Given the description of an element on the screen output the (x, y) to click on. 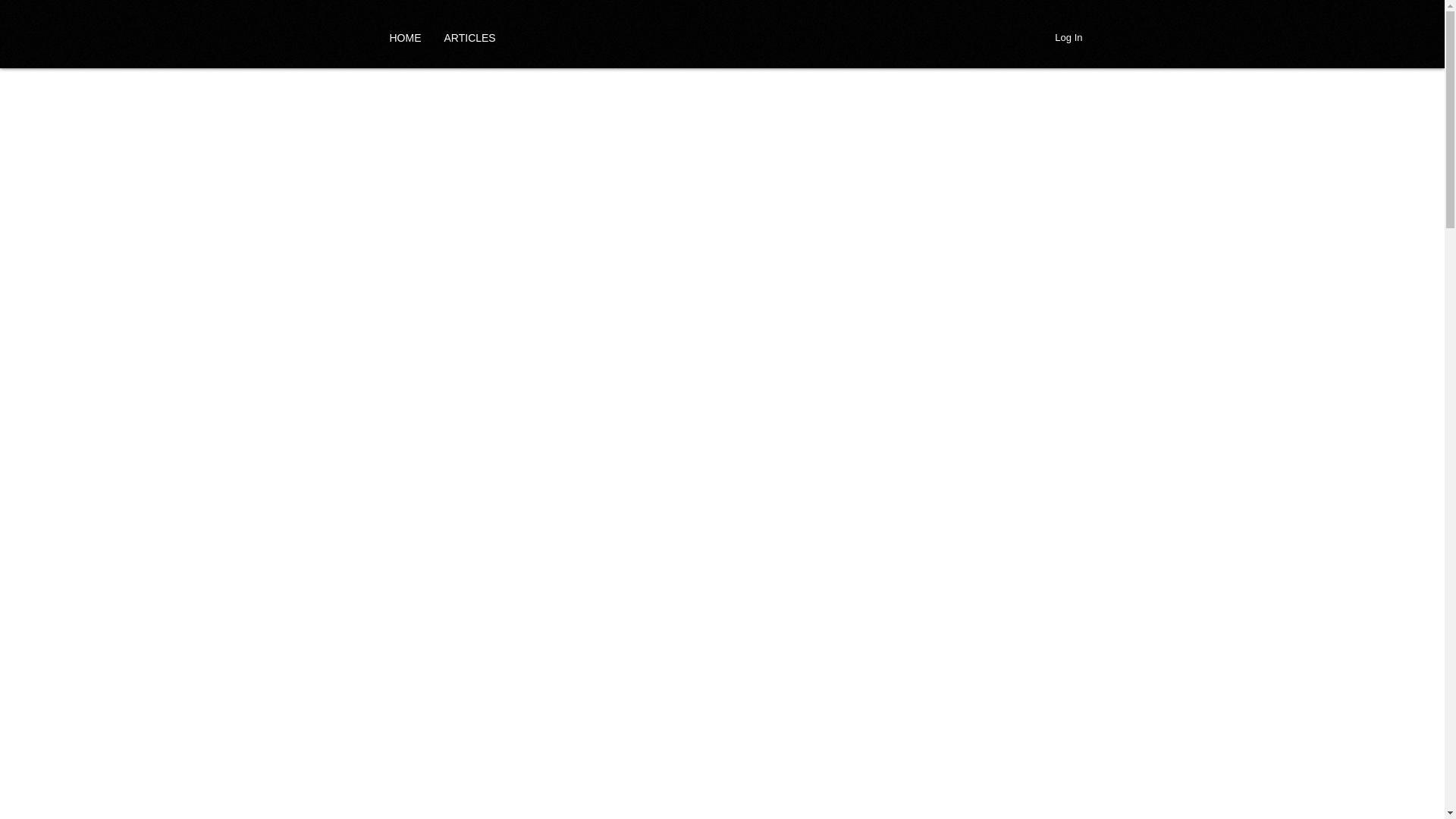
Log In (1068, 37)
ARTICLES (468, 37)
HOME (404, 37)
